Given the description of an element on the screen output the (x, y) to click on. 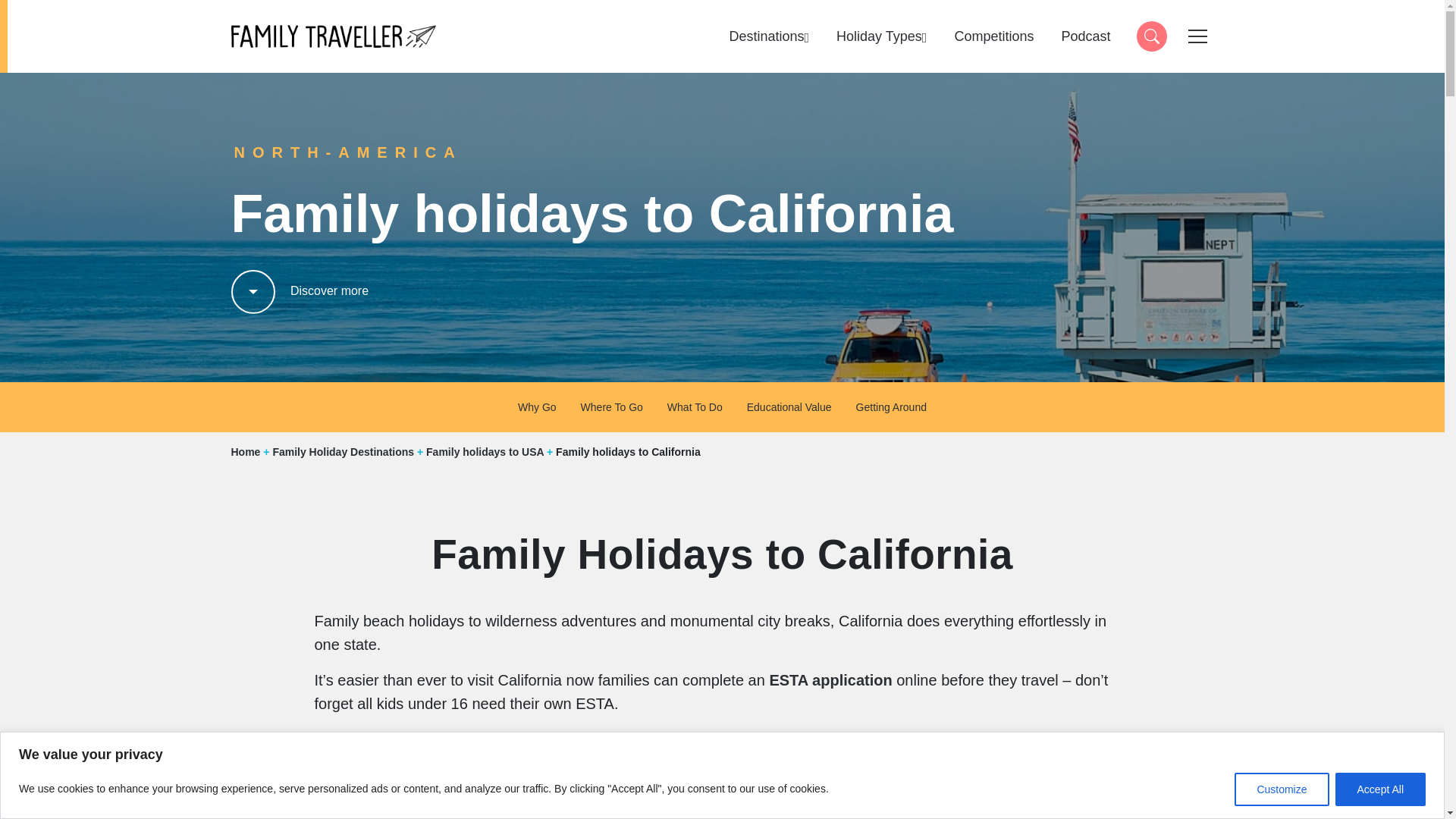
Scroll Down (299, 290)
Search anything... (332, 36)
Destinations (1150, 36)
Accept All (768, 36)
Holiday Types (1380, 788)
Customize (881, 36)
Competitions (1280, 788)
Podcast (993, 36)
